Given the description of an element on the screen output the (x, y) to click on. 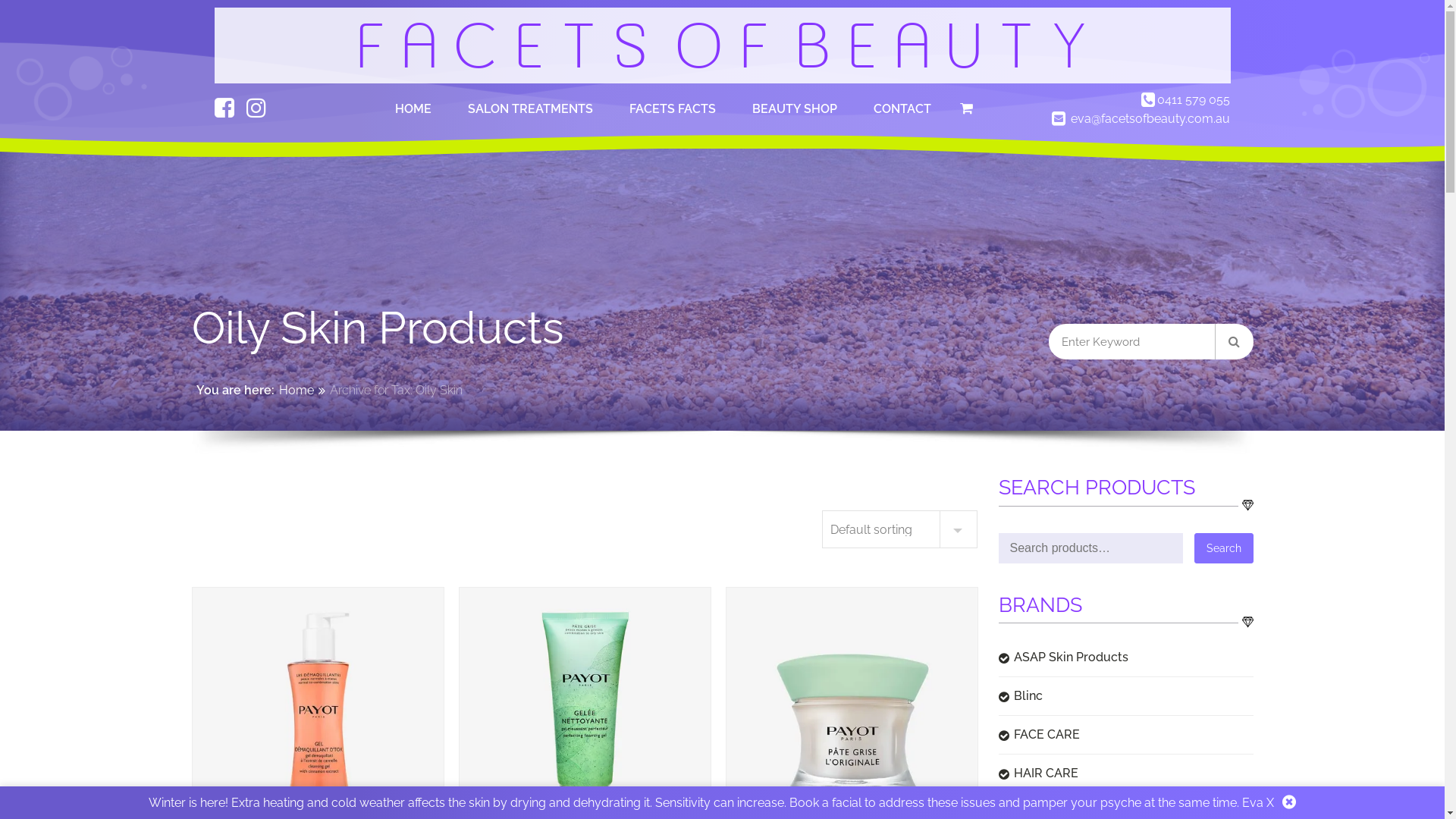
eva@facetsofbeauty.com.au Element type: text (1150, 118)
BEAUTY SHOP Element type: text (794, 115)
FACETS FACTS Element type: text (672, 115)
0411 579 055 Element type: text (1193, 99)
HAIR CARE Element type: text (1124, 775)
CONTACT Element type: text (902, 115)
Search Element type: text (1222, 548)
ASAP Skin Products Element type: text (1124, 659)
Blinc Element type: text (1124, 697)
FACETSOFBEAUTY Element type: text (721, 45)
SALON TREATMENTS Element type: text (530, 115)
FACE CARE Element type: text (1124, 736)
Home Element type: text (296, 390)
HOME Element type: text (412, 115)
